Given the description of an element on the screen output the (x, y) to click on. 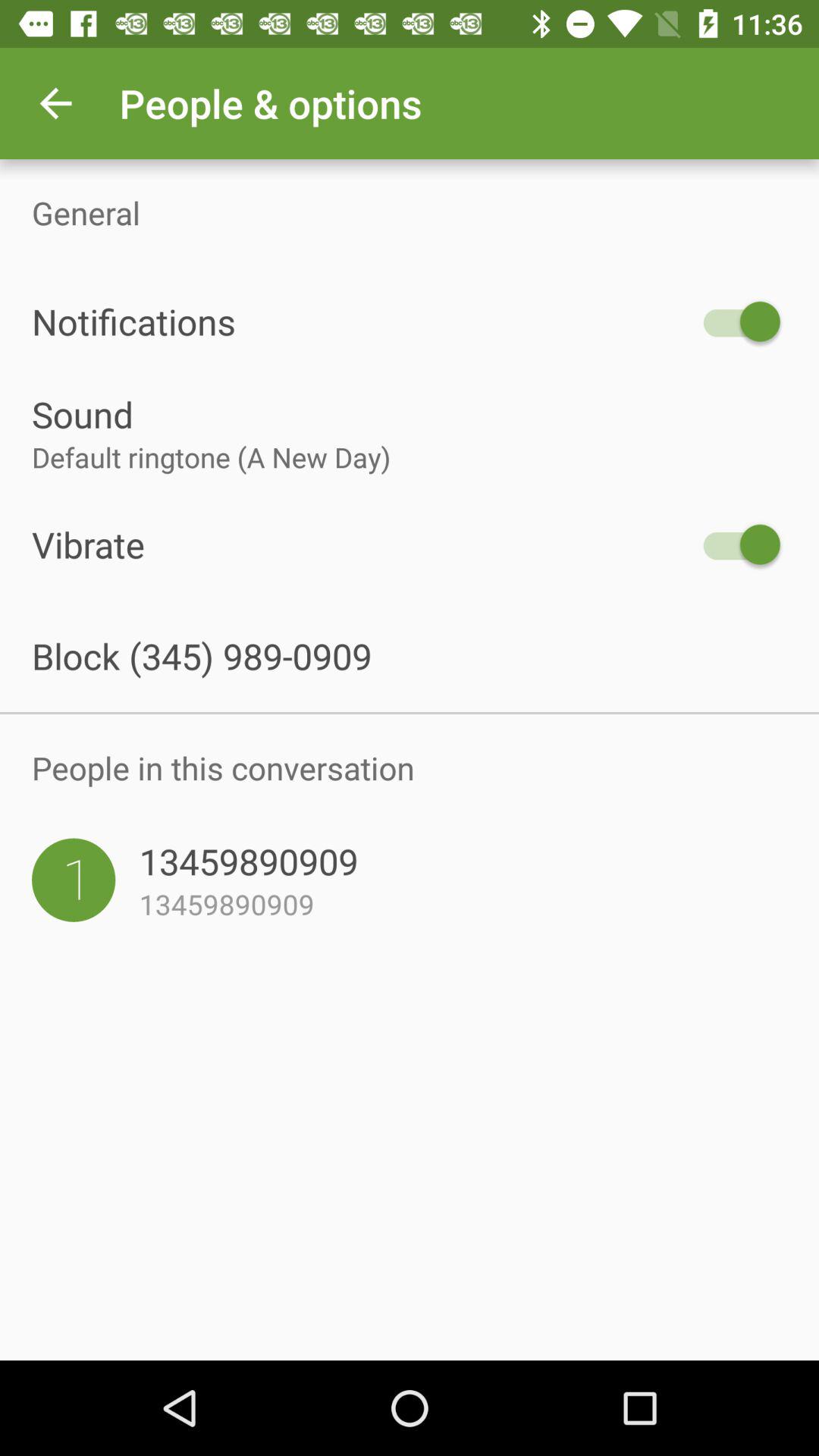
swipe until people in this icon (409, 767)
